Given the description of an element on the screen output the (x, y) to click on. 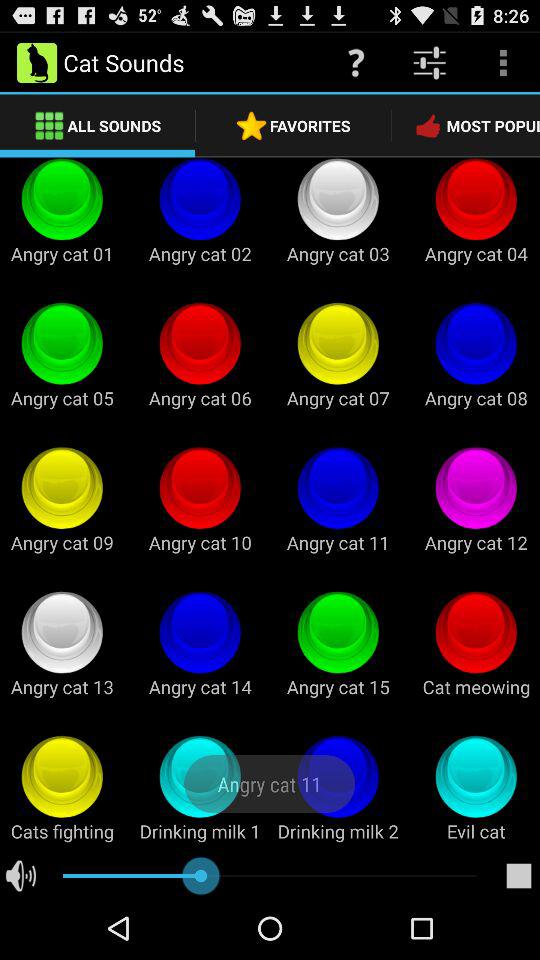
open the icon above the favorites (356, 62)
